Given the description of an element on the screen output the (x, y) to click on. 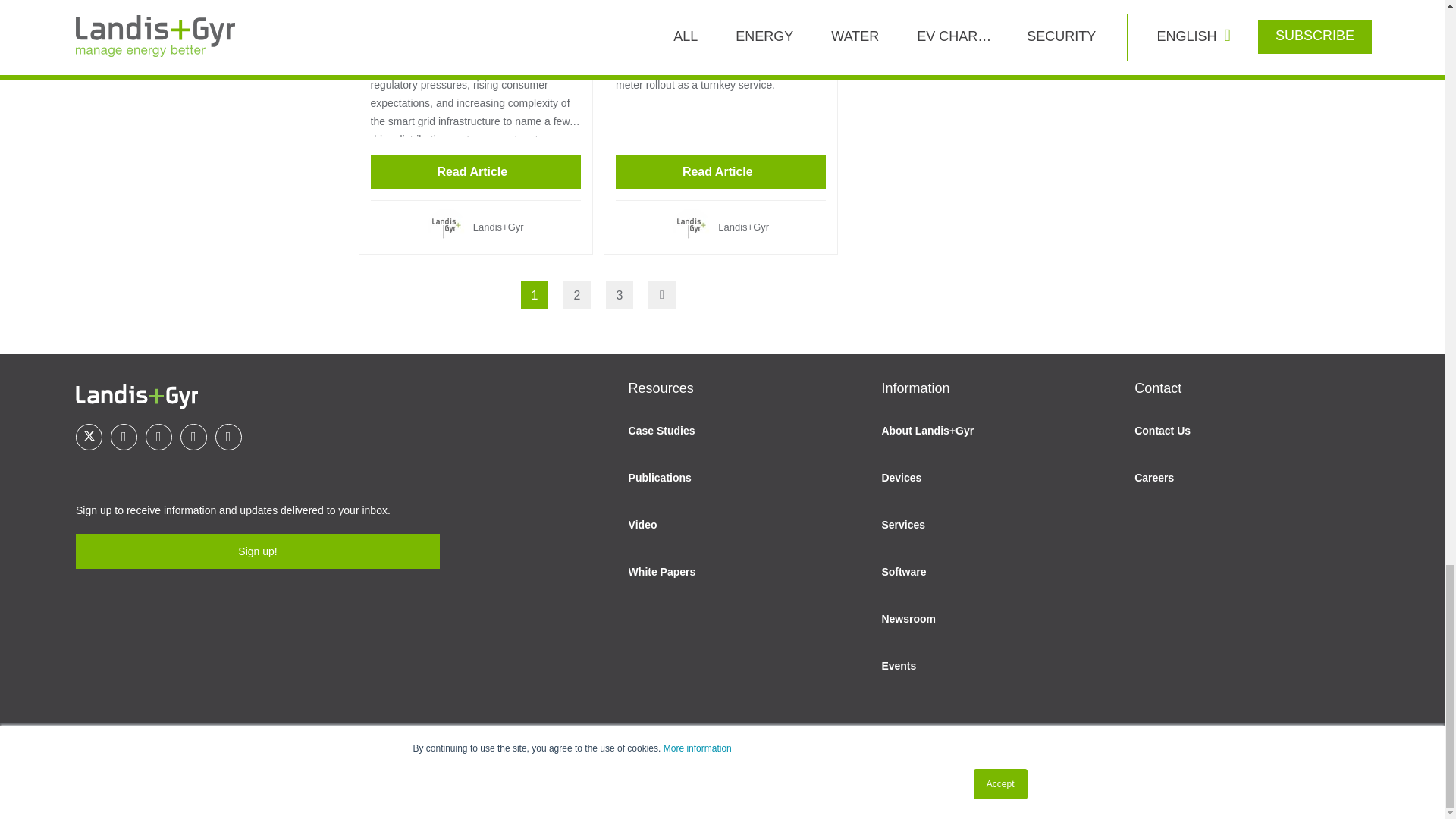
Twitter (88, 437)
